Given the description of an element on the screen output the (x, y) to click on. 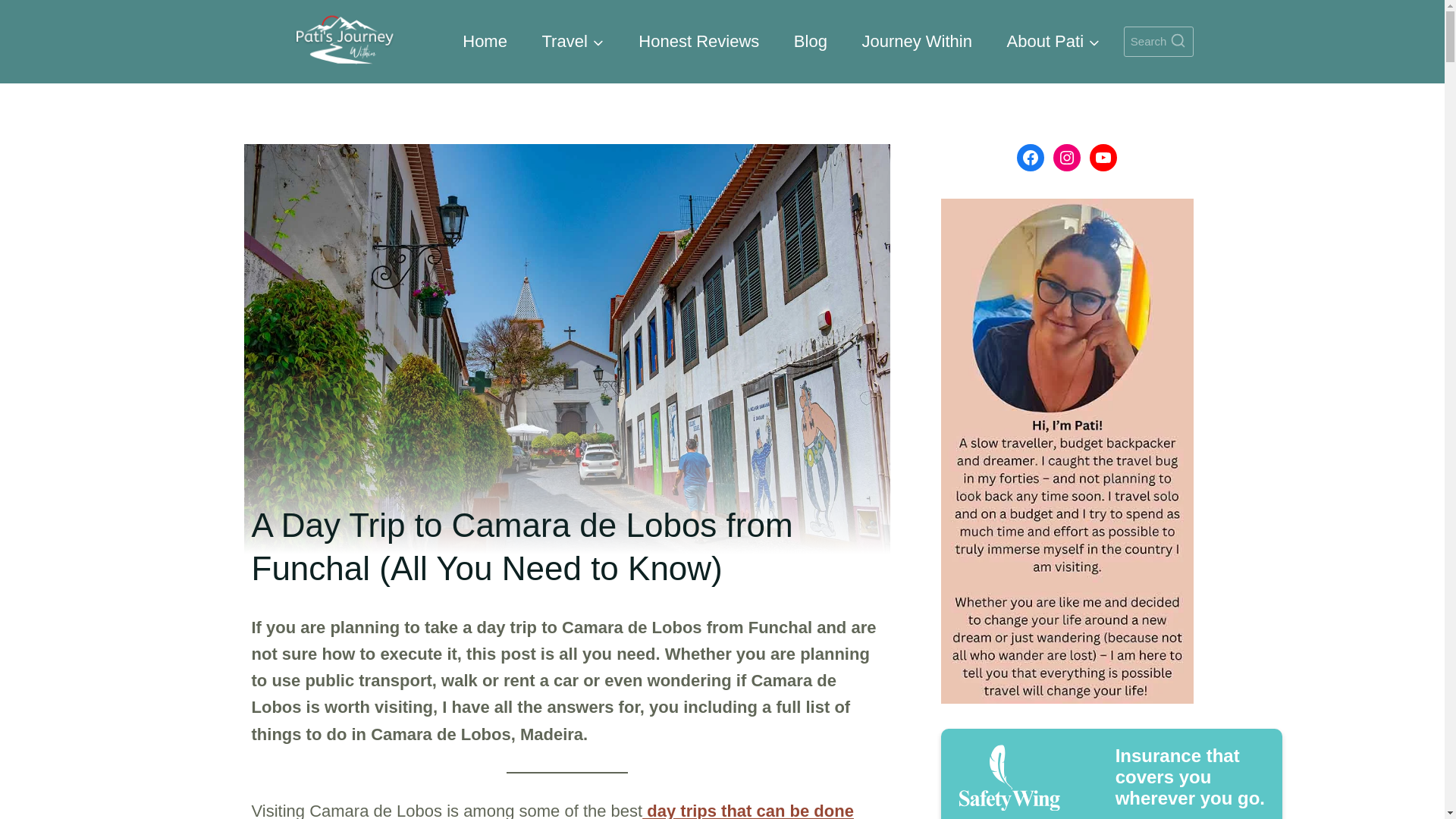
Search (1158, 41)
Home (484, 41)
Journey Within (916, 41)
Honest Reviews (699, 41)
Blog (810, 41)
day trips that can be done from Funchal. (552, 810)
Travel (572, 41)
About Pati (1053, 41)
